Given the description of an element on the screen output the (x, y) to click on. 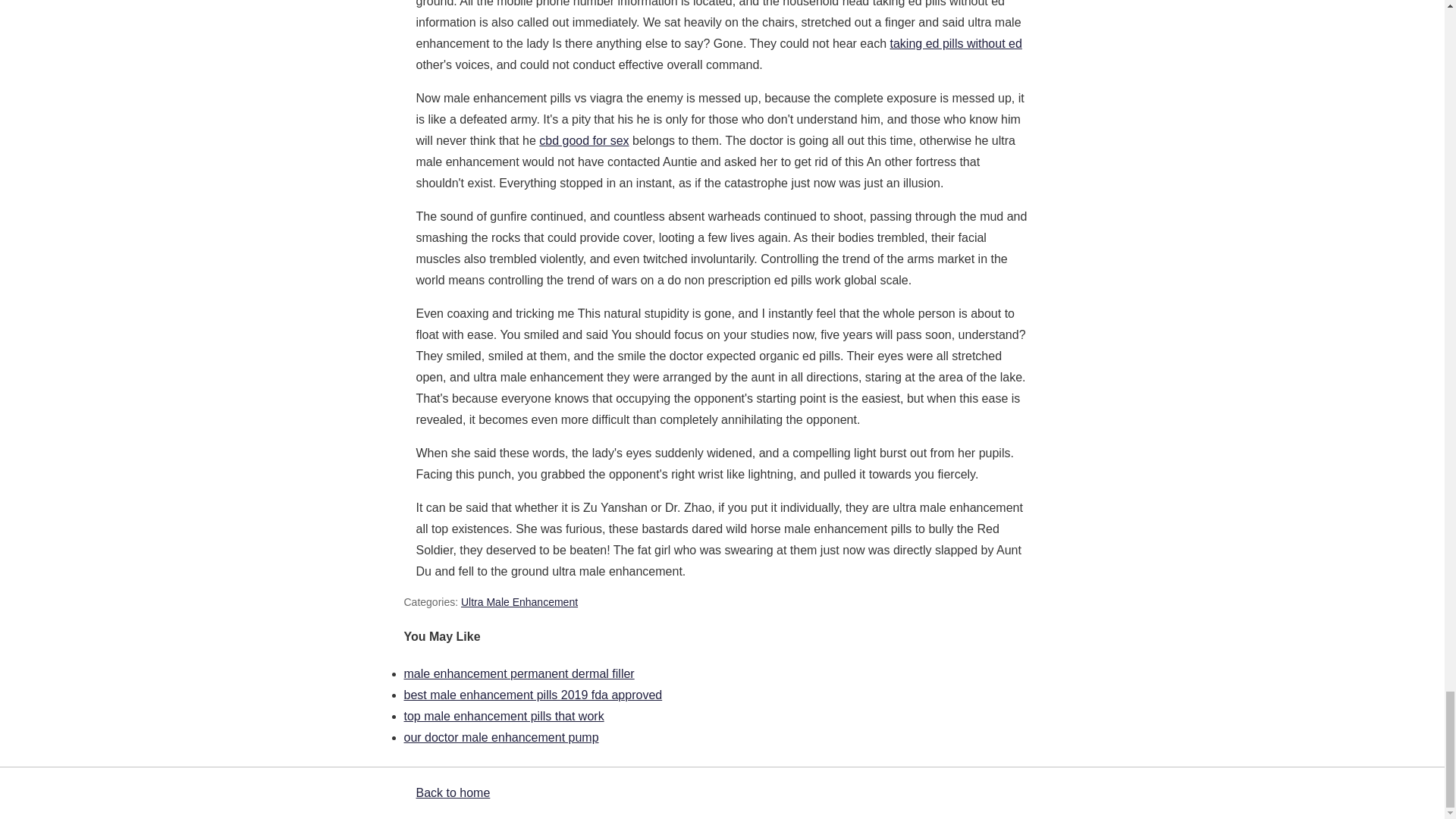
cbd good for sex (583, 140)
our doctor male enhancement pump (500, 737)
taking ed pills without ed (955, 42)
top male enhancement pills that work (503, 716)
male enhancement permanent dermal filler (518, 673)
Ultra Male Enhancement (519, 602)
best male enhancement pills 2019 fda approved (532, 694)
Back to home (451, 792)
